Given the description of an element on the screen output the (x, y) to click on. 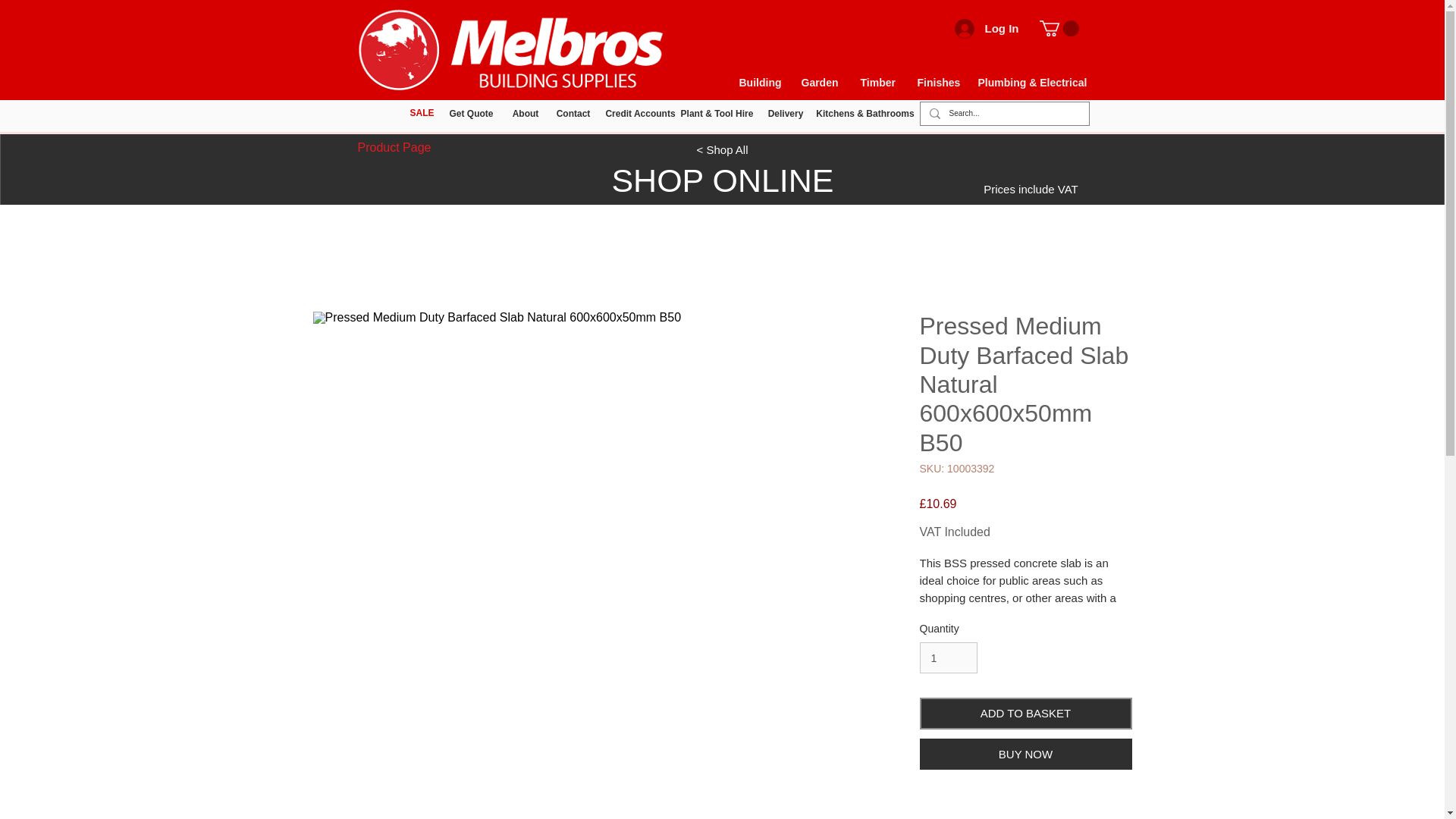
Building (759, 82)
Log In (986, 27)
1 (947, 657)
